Given the description of an element on the screen output the (x, y) to click on. 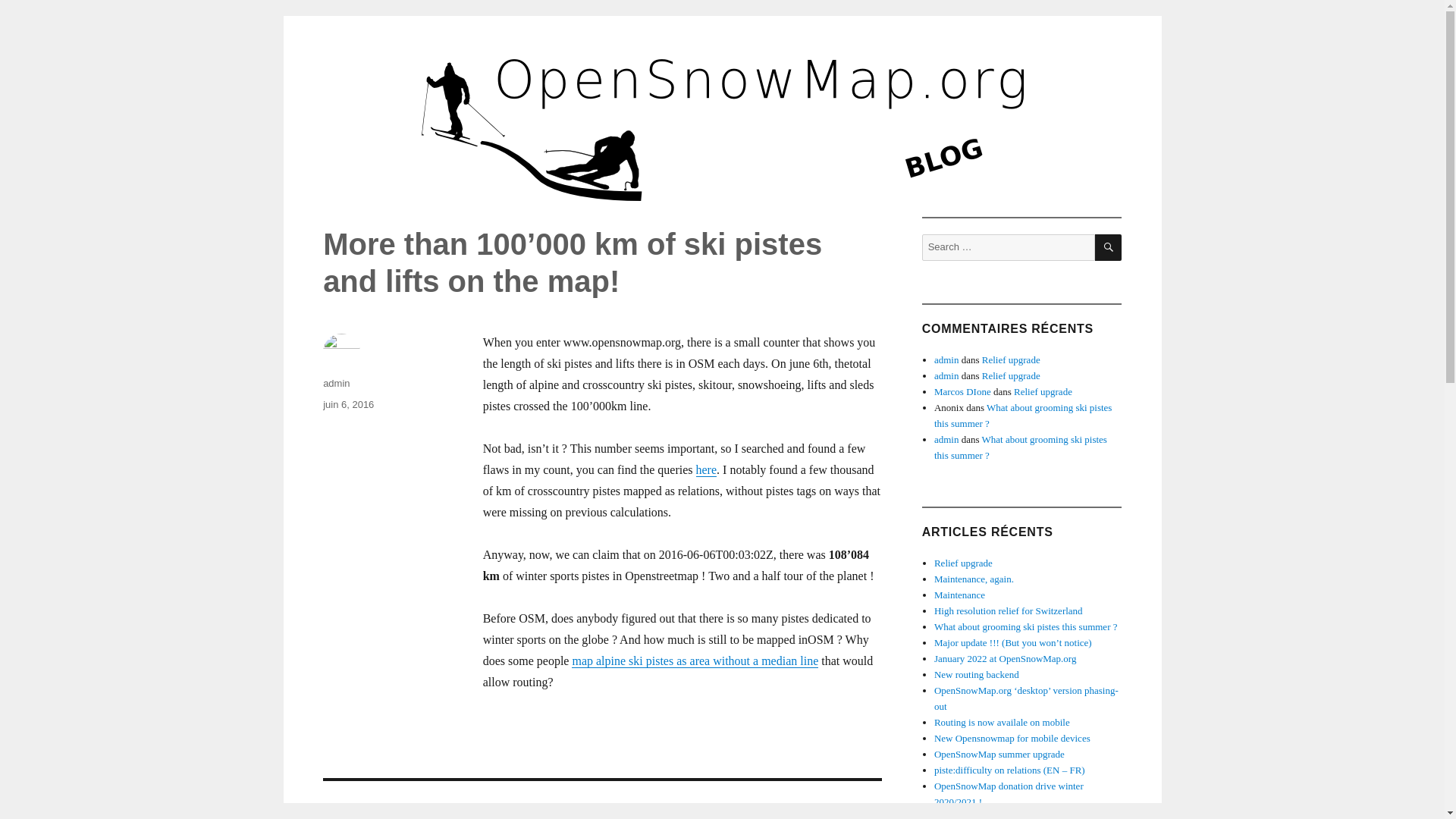
Relief upgrade (1042, 391)
Relief upgrade (1011, 375)
admin (946, 375)
New routing backend (976, 674)
here (706, 469)
juin 6, 2016 (348, 404)
Marcos DIone (962, 391)
Relief upgrade (963, 562)
SEARCH (1107, 247)
What about grooming ski pistes this summer ? (1023, 415)
OpenSnowMap summer upgrade (999, 754)
New Opensnowmap for mobile devices (1012, 737)
Relief upgrade (1011, 359)
Routing is now availale on mobile (1002, 722)
Maintenance (959, 594)
